Given the description of an element on the screen output the (x, y) to click on. 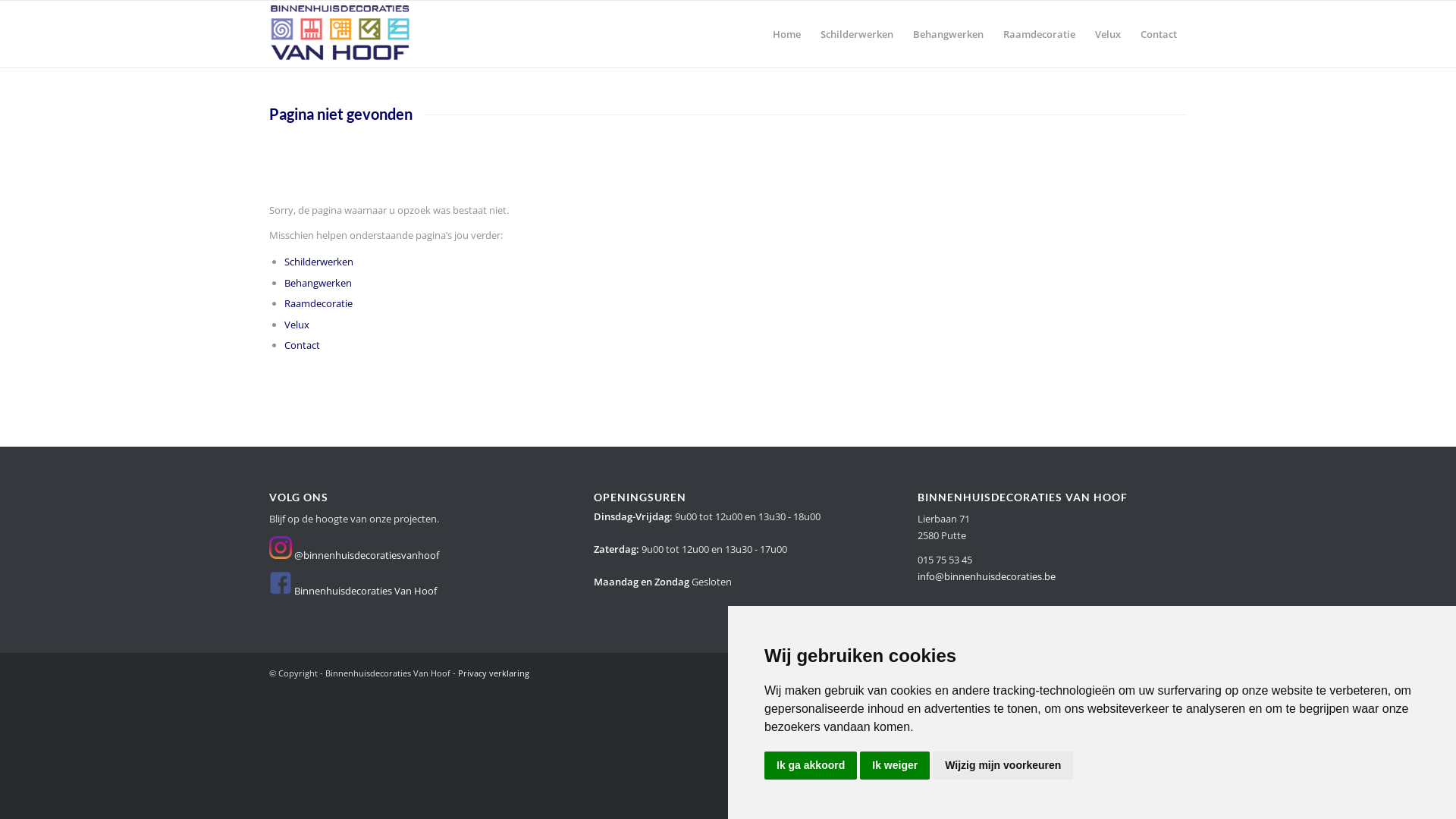
Contact Element type: text (1158, 33)
@binnenhuisdecoratiesvanhoof Element type: text (366, 554)
Privacy verklaring Element type: text (493, 672)
Raamdecoratie Element type: text (1039, 33)
info@binnenhuisdecoraties.be Element type: text (986, 576)
Schilderwerken Element type: text (856, 33)
Behangwerken Element type: text (948, 33)
Contact Element type: text (302, 344)
binnenhuisdecoratiesvanhoof Element type: hover (280, 547)
Binnenhuisdecoraties Van Hoof Element type: text (365, 590)
logo-binnenhuisdecoratiesvanhoof Element type: hover (341, 33)
Schilderwerken Element type: text (318, 261)
Behangwerken Element type: text (317, 282)
Home Element type: text (786, 33)
Velux Element type: text (296, 323)
Raamdecoratie Element type: text (318, 303)
Ik weiger Element type: text (894, 765)
Instagram Element type: hover (1152, 672)
Wijzig mijn voorkeuren Element type: text (1002, 765)
Facebook Element type: hover (1175, 672)
Velux Element type: text (1107, 33)
Ik ga akkoord Element type: text (810, 765)
